Given the description of an element on the screen output the (x, y) to click on. 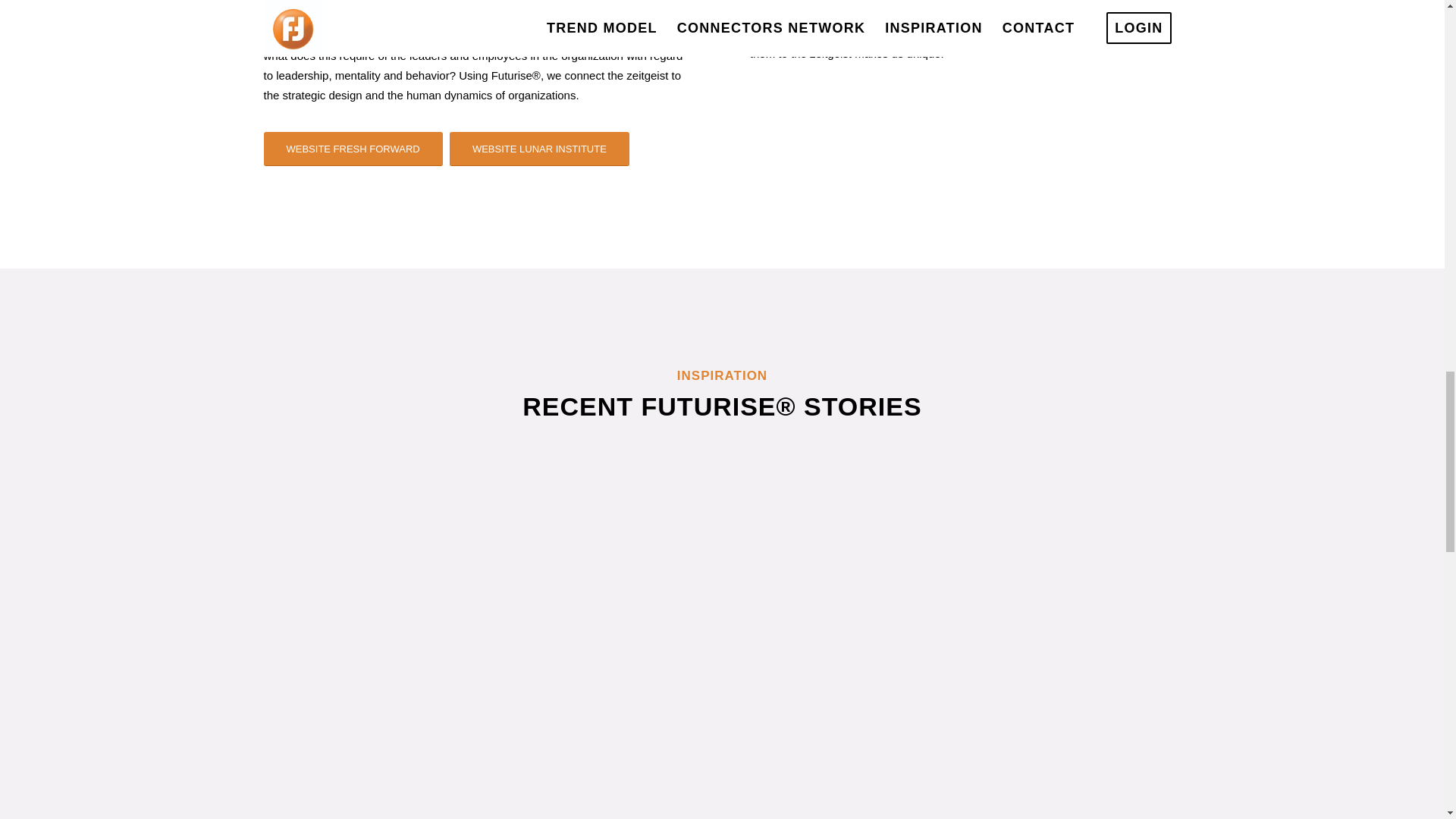
WEBSITE LUNAR INSTITUTE (538, 148)
WEBSITE FRESH FORWARD (352, 148)
